Given the description of an element on the screen output the (x, y) to click on. 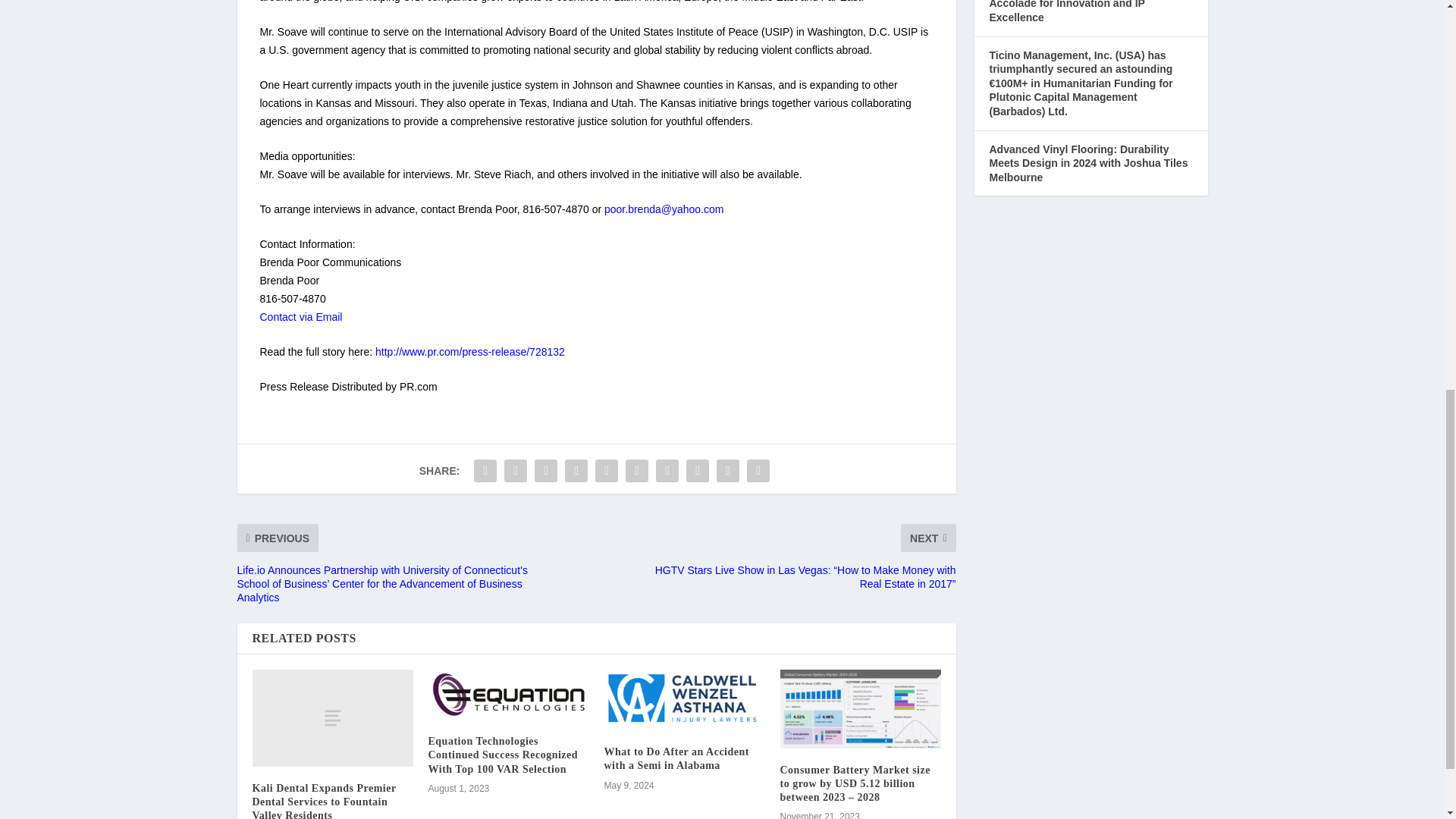
What to Do After an Accident with a Semi in Alabama (684, 699)
Contact via Email (300, 316)
